Given the description of an element on the screen output the (x, y) to click on. 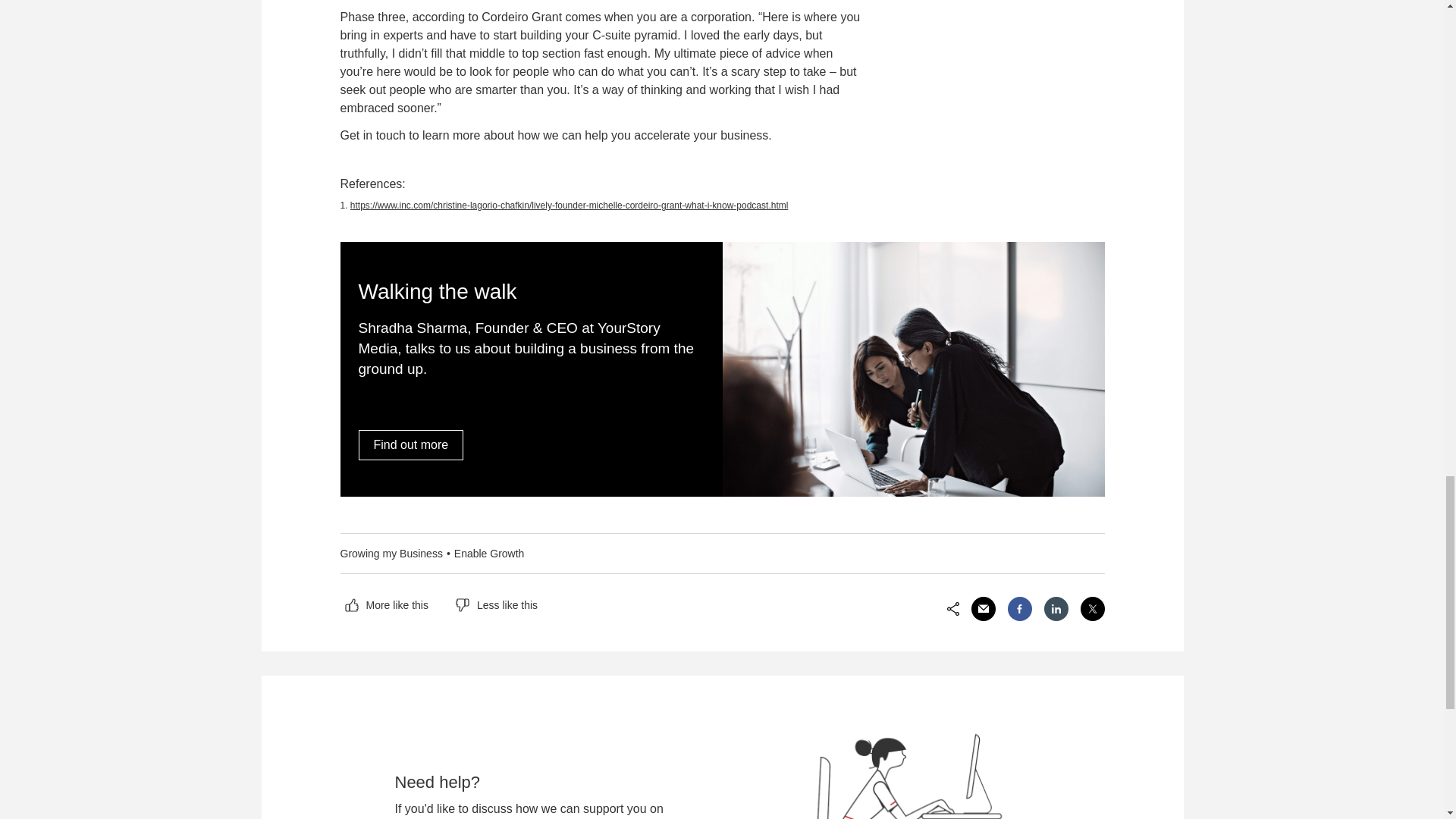
Less like this (496, 605)
More like this (385, 605)
Find out more (410, 444)
